Given the description of an element on the screen output the (x, y) to click on. 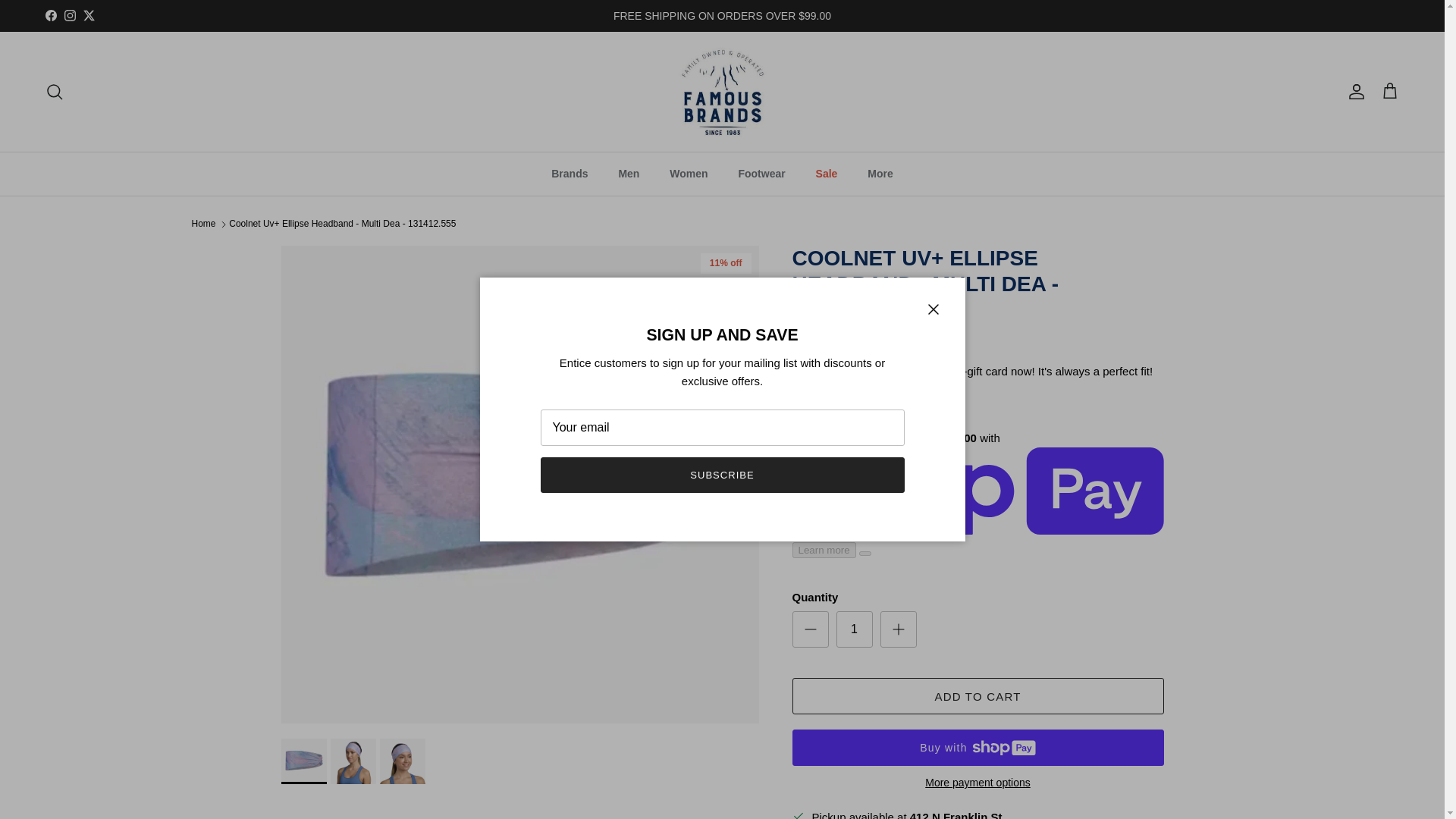
famous-brands-outlet-ny on Instagram (69, 15)
famous-brands-outlet-ny on Twitter (88, 15)
Brands (569, 173)
famous-brands-outlet-ny on Facebook (50, 15)
Facebook (50, 15)
famous-brands-outlet-ny (722, 91)
Twitter (88, 15)
1 (853, 628)
Account (1352, 91)
Instagram (69, 15)
Search (54, 91)
Cart (1389, 91)
